Given the description of an element on the screen output the (x, y) to click on. 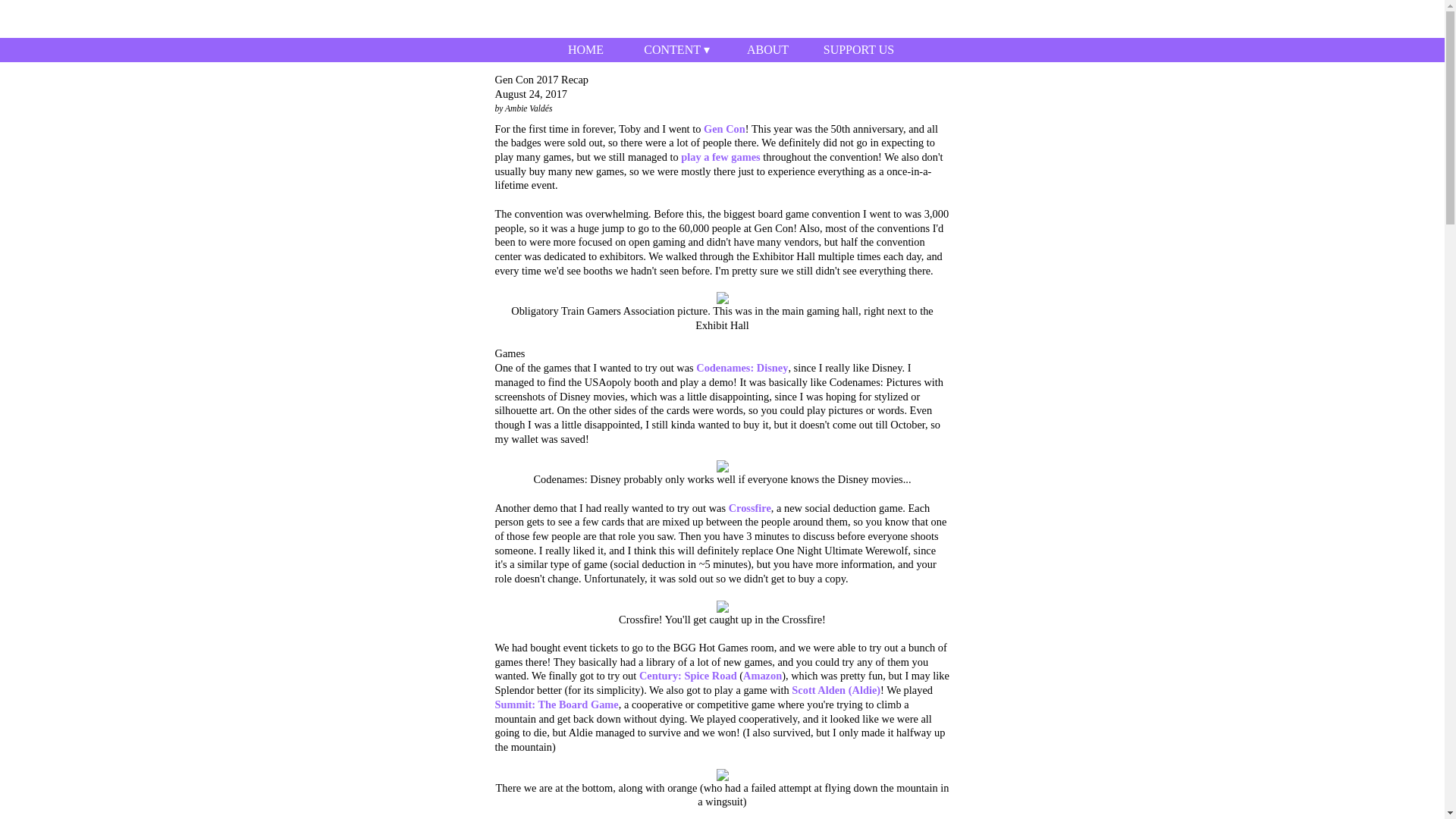
ABOUT (767, 49)
Crossfire (750, 508)
Amazon (761, 675)
play a few games (720, 156)
HOME (585, 49)
Gen Con (724, 128)
SUPPORT US (858, 49)
Codenames: Disney (741, 367)
Gen Con 2017 Recap (722, 79)
Century: Spice Road (687, 675)
Summit: The Board Game (556, 704)
